Given the description of an element on the screen output the (x, y) to click on. 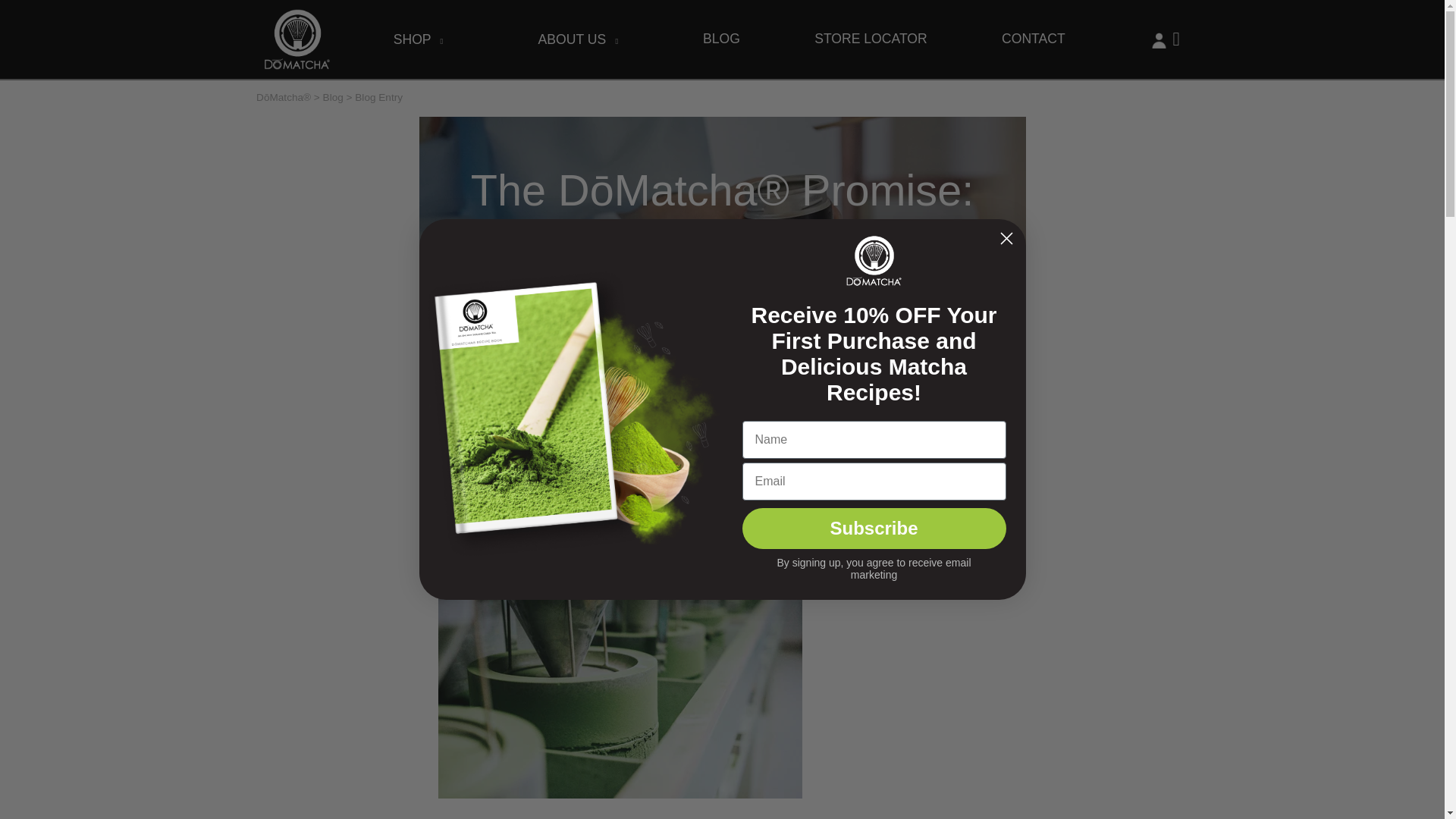
Close dialog 1 (1006, 238)
CONTACT (1033, 39)
Blog (333, 97)
STORE LOCATOR (870, 39)
ABOUT US (578, 39)
BLOG (721, 39)
premium matcha (544, 466)
SHOP (418, 39)
